Given the description of an element on the screen output the (x, y) to click on. 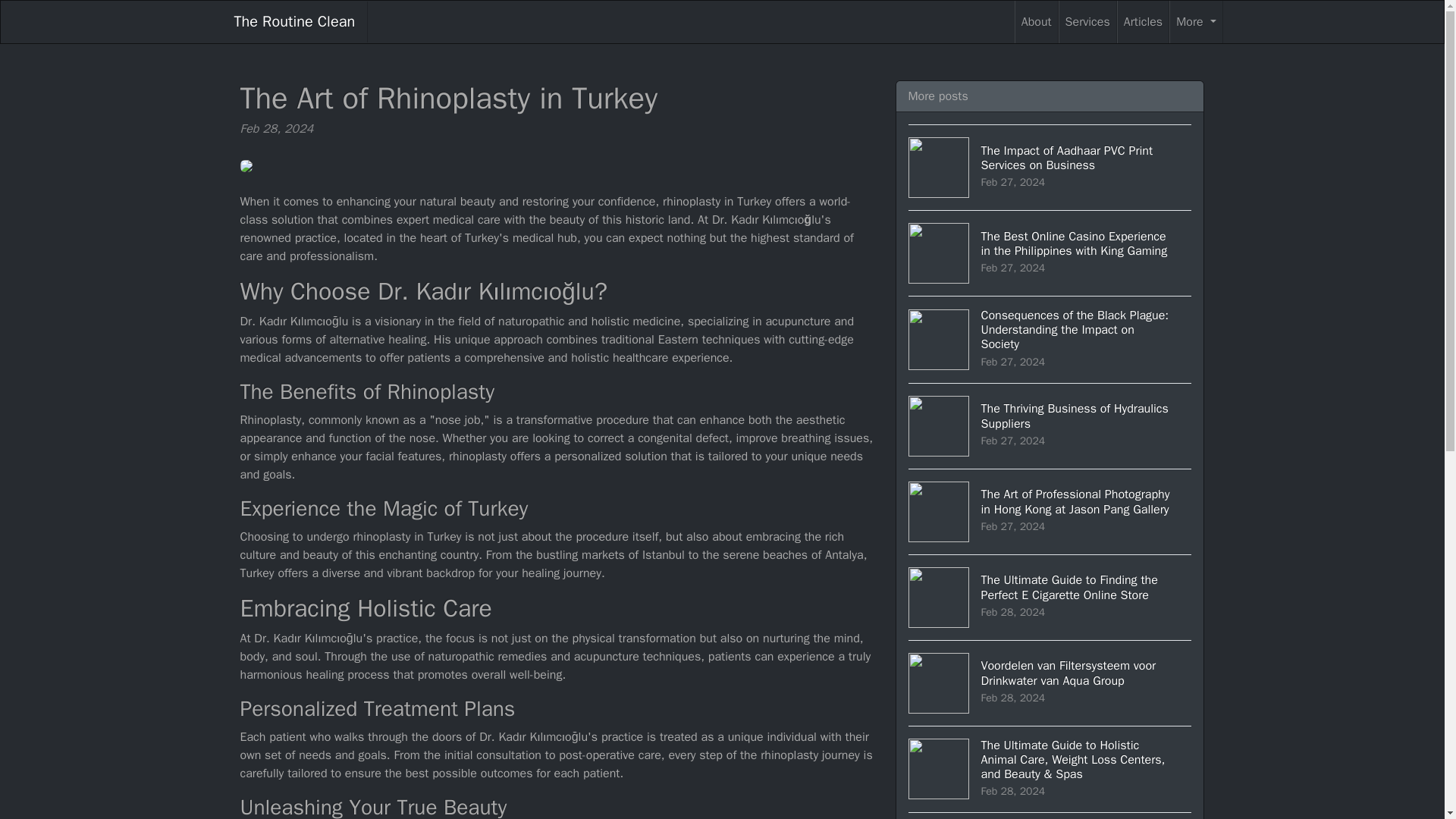
About (1036, 21)
Articles (1142, 21)
The Routine Clean (294, 21)
More (1196, 21)
Services (1050, 425)
